Given the description of an element on the screen output the (x, y) to click on. 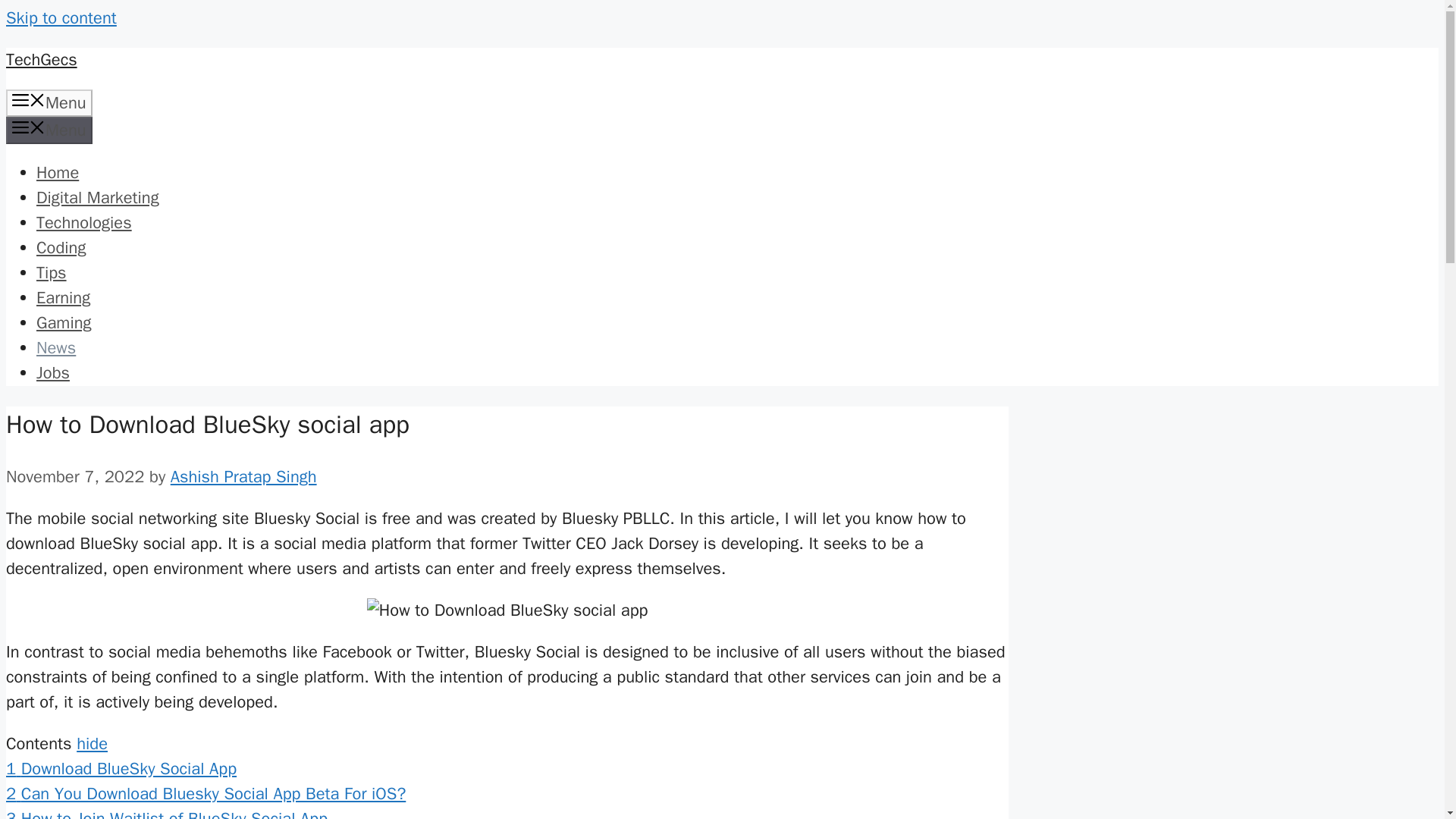
Home (57, 172)
Skip to content (60, 17)
Earning (63, 297)
Gaming (63, 322)
1 Download BlueSky Social App (120, 768)
Menu (49, 130)
3 How to Join Waitlist of BlueSky Social App (166, 813)
hide (92, 743)
Menu (49, 103)
News (55, 347)
Technologies (84, 222)
TechGecs (41, 59)
Jobs (52, 373)
Coding (60, 247)
View all posts by Ashish Pratap Singh (243, 476)
